Given the description of an element on the screen output the (x, y) to click on. 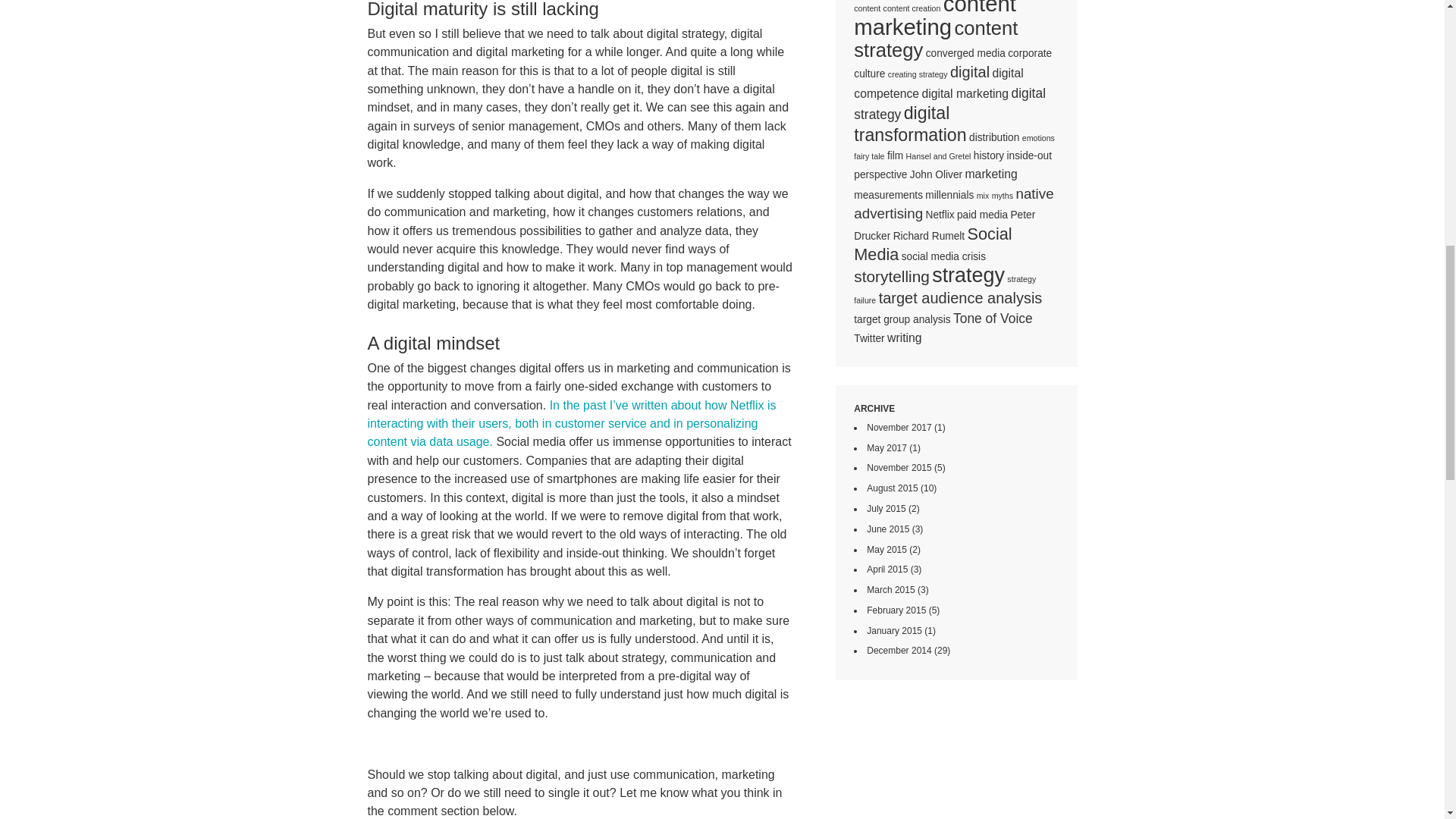
converged media (966, 52)
digital competence (938, 82)
creating strategy (917, 73)
digital transformation (909, 123)
complex content (944, 6)
content creation (911, 8)
content strategy (935, 38)
digital strategy (949, 103)
digital (970, 71)
corporate culture (952, 63)
content marketing (934, 19)
digital marketing (965, 92)
